Given the description of an element on the screen output the (x, y) to click on. 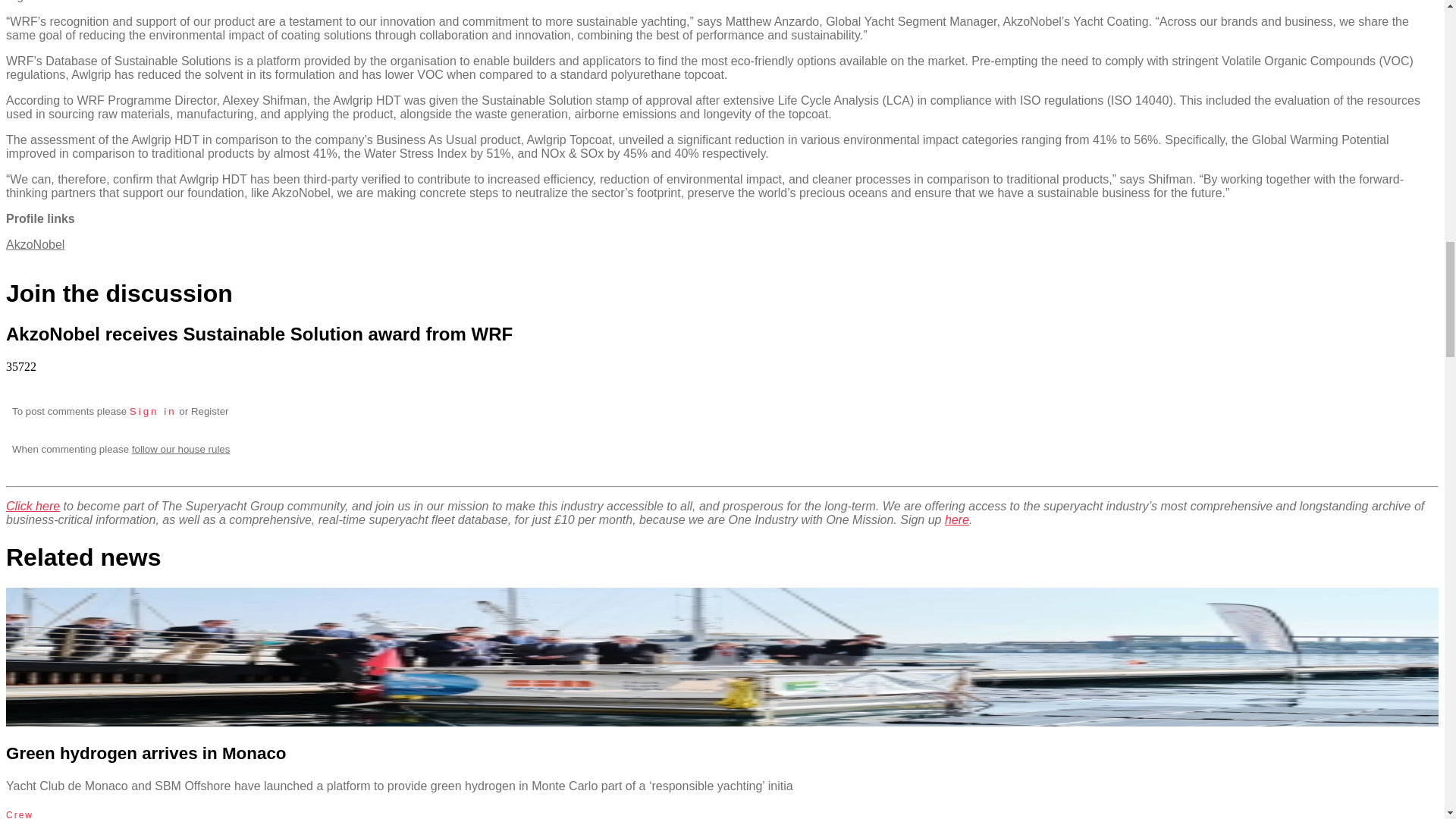
here (956, 519)
Click here (32, 505)
follow our house rules (181, 449)
AkzoNobel (34, 244)
Green hydrogen arrives in Monaco (145, 752)
